Given the description of an element on the screen output the (x, y) to click on. 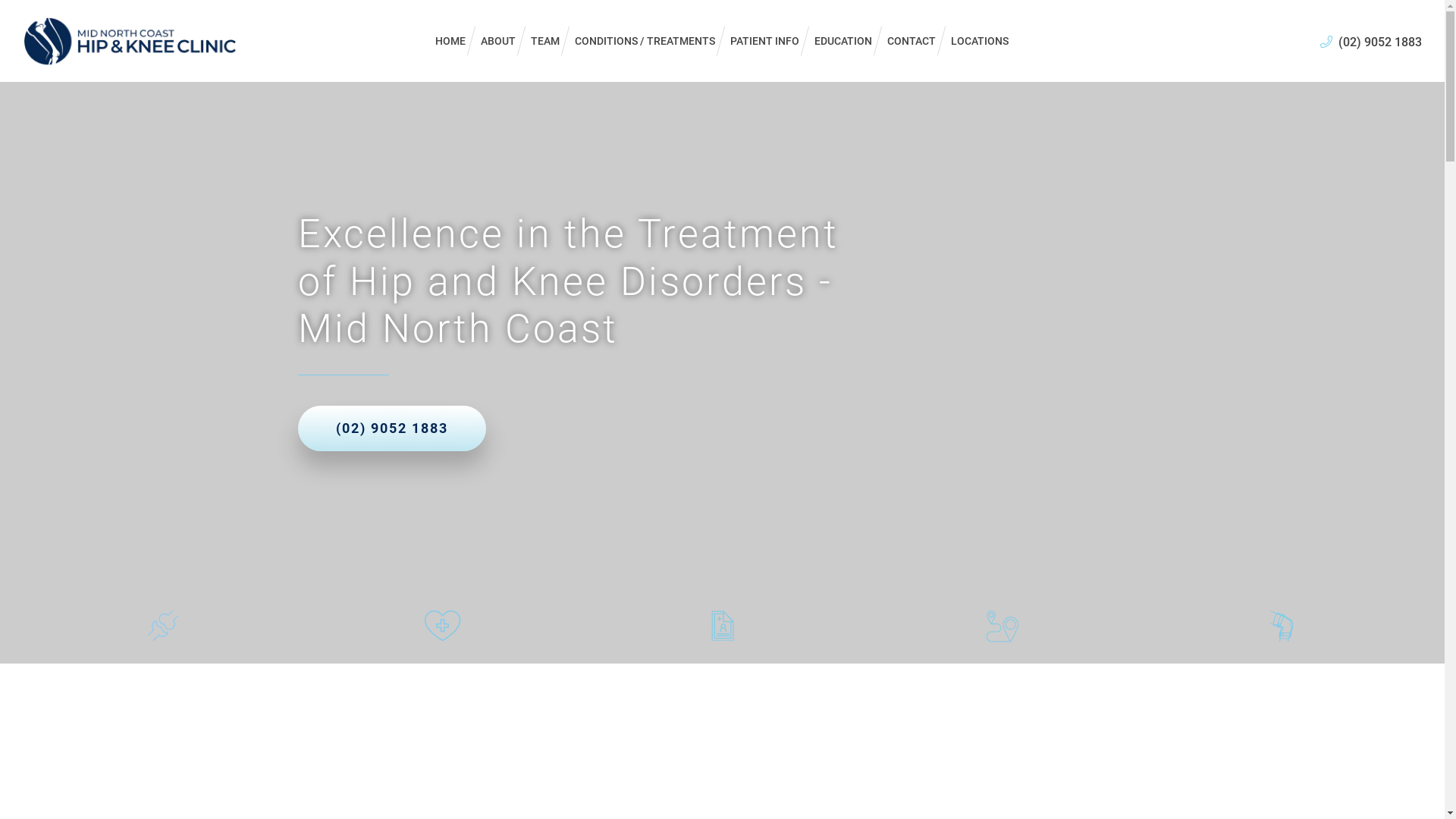
EDUCATION Element type: text (843, 40)
LOCATIONS Element type: text (979, 40)
ABOUT Element type: text (497, 40)
(02) 9052 1883 Element type: text (1370, 41)
PATIENT INFO Element type: text (764, 40)
TEAM Element type: text (544, 40)
(02) 9052 1883 Element type: text (391, 428)
CONDITIONS / TREATMENTS Element type: text (644, 40)
HOME Element type: text (450, 40)
CONTACT Element type: text (911, 40)
